Given the description of an element on the screen output the (x, y) to click on. 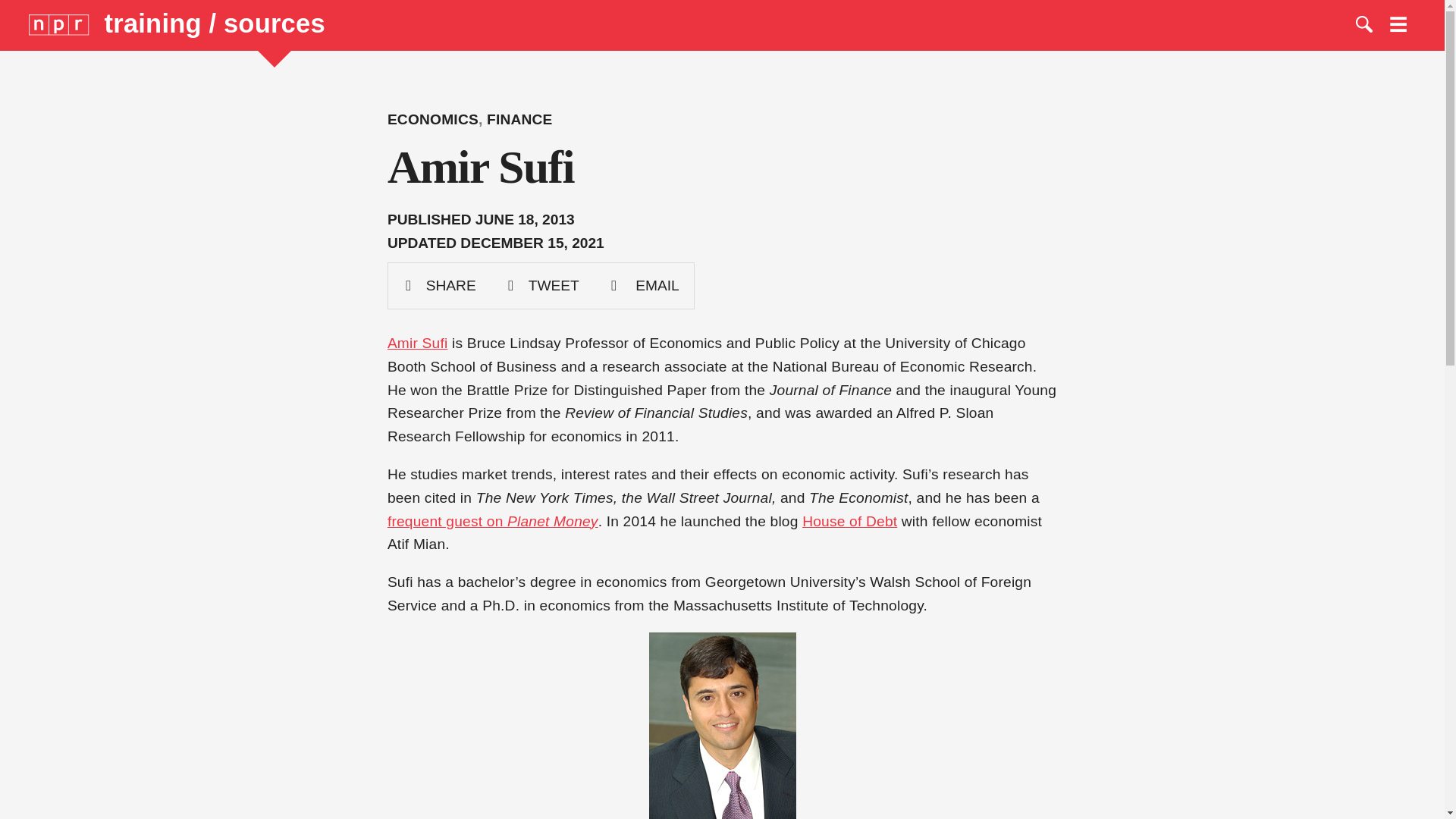
ECONOMICS (433, 119)
Amir Sufi (417, 342)
EMAIL (644, 285)
SHARE (439, 285)
TWEET (542, 285)
frequent guest on Planet Money (492, 520)
sources (274, 23)
training (156, 23)
House of Debt (849, 520)
FINANCE (519, 119)
